Given the description of an element on the screen output the (x, y) to click on. 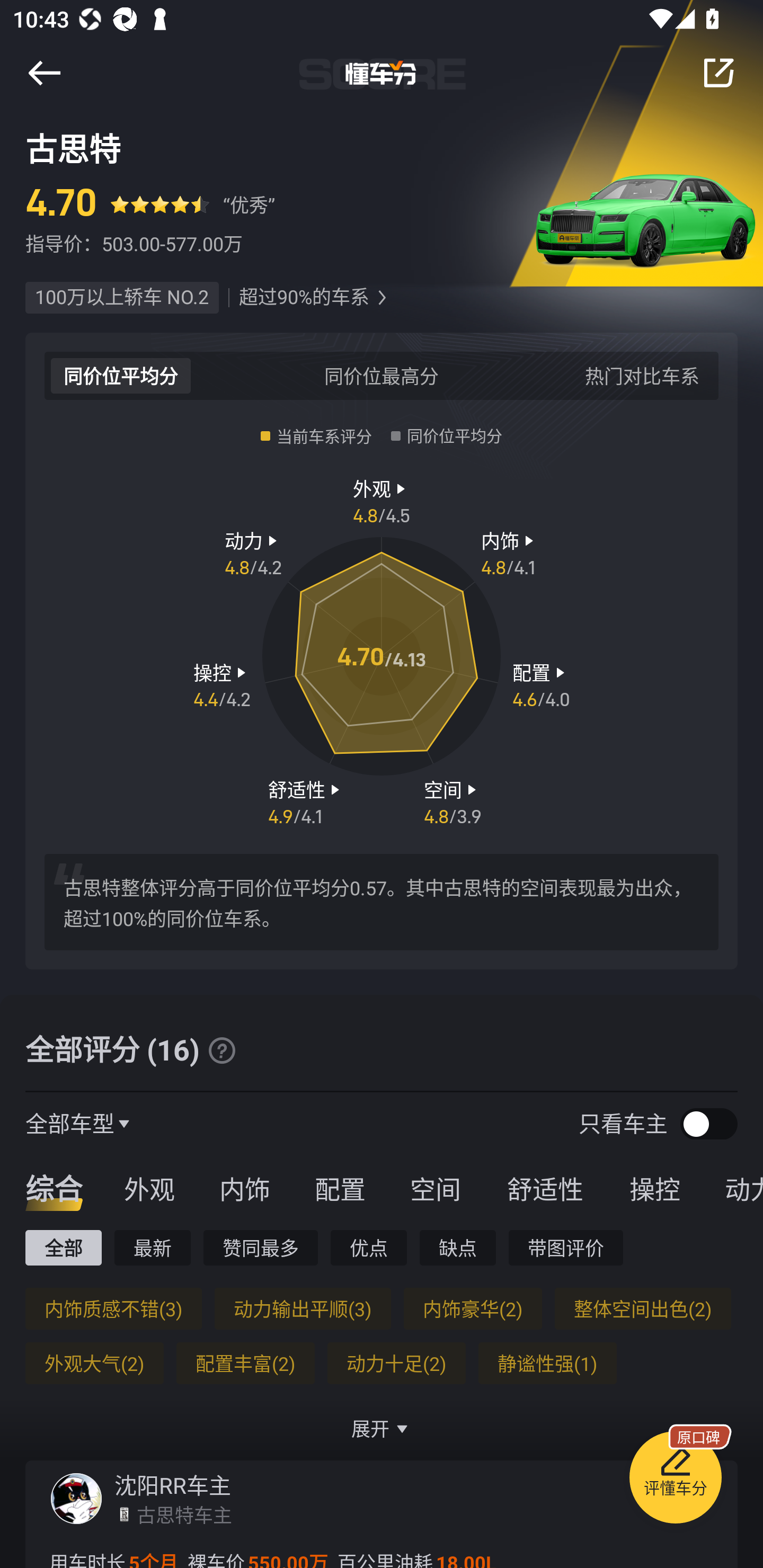
 (44, 72)
 (718, 72)
超过90%的车系 (303, 297)
 (381, 297)
同价位平均分 (120, 375)
同价位最高分 (381, 375)
热门对比车系 (641, 375)
外观  4.8 / 4.5 (381, 500)
动力  4.8 / 4.2 (252, 552)
内饰  4.8 / 4.1 (509, 552)
操控  4.4 / 4.2 (221, 685)
配置  4.6 / 4.0 (540, 685)
舒适性  4.9 / 4.1 (305, 801)
空间  4.8 / 3.9 (452, 801)
 (222, 1050)
全部车型 (69, 1123)
外观 (148, 1188)
内饰 (244, 1188)
配置 (339, 1188)
空间 (434, 1188)
舒适性 (544, 1188)
操控 (654, 1188)
全部 (63, 1247)
最新 (152, 1247)
赞同最多 (260, 1247)
优点 (368, 1247)
缺点 (457, 1247)
带图评价 (565, 1247)
内饰质感不错(3) (113, 1308)
动力输出平顺(3) (302, 1308)
内饰豪华(2) (472, 1308)
整体空间出色(2) (642, 1308)
外观大气(2) (94, 1363)
配置丰富(2) (245, 1363)
动力十足(2) (396, 1363)
静谧性强(1) (547, 1363)
展开  (381, 1428)
 评懂车分 原口碑 (675, 1480)
沈阳RR车主 (172, 1485)
古思特车主 (183, 1514)
